Given the description of an element on the screen output the (x, y) to click on. 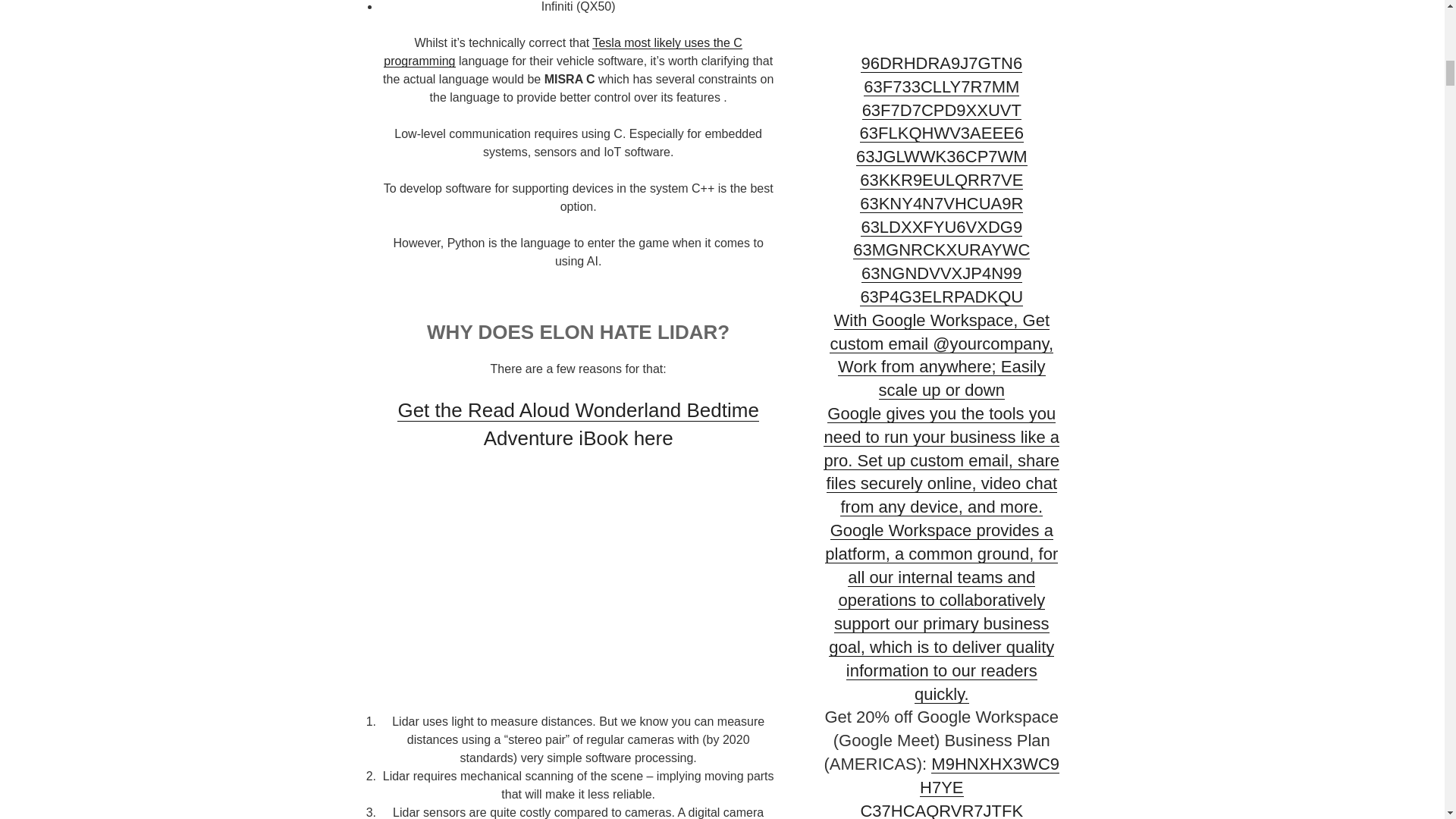
Tesla most likely uses the C programming (563, 51)
Get the Read Aloud Wonderland Bedtime Adventure iBook here (577, 423)
